Given the description of an element on the screen output the (x, y) to click on. 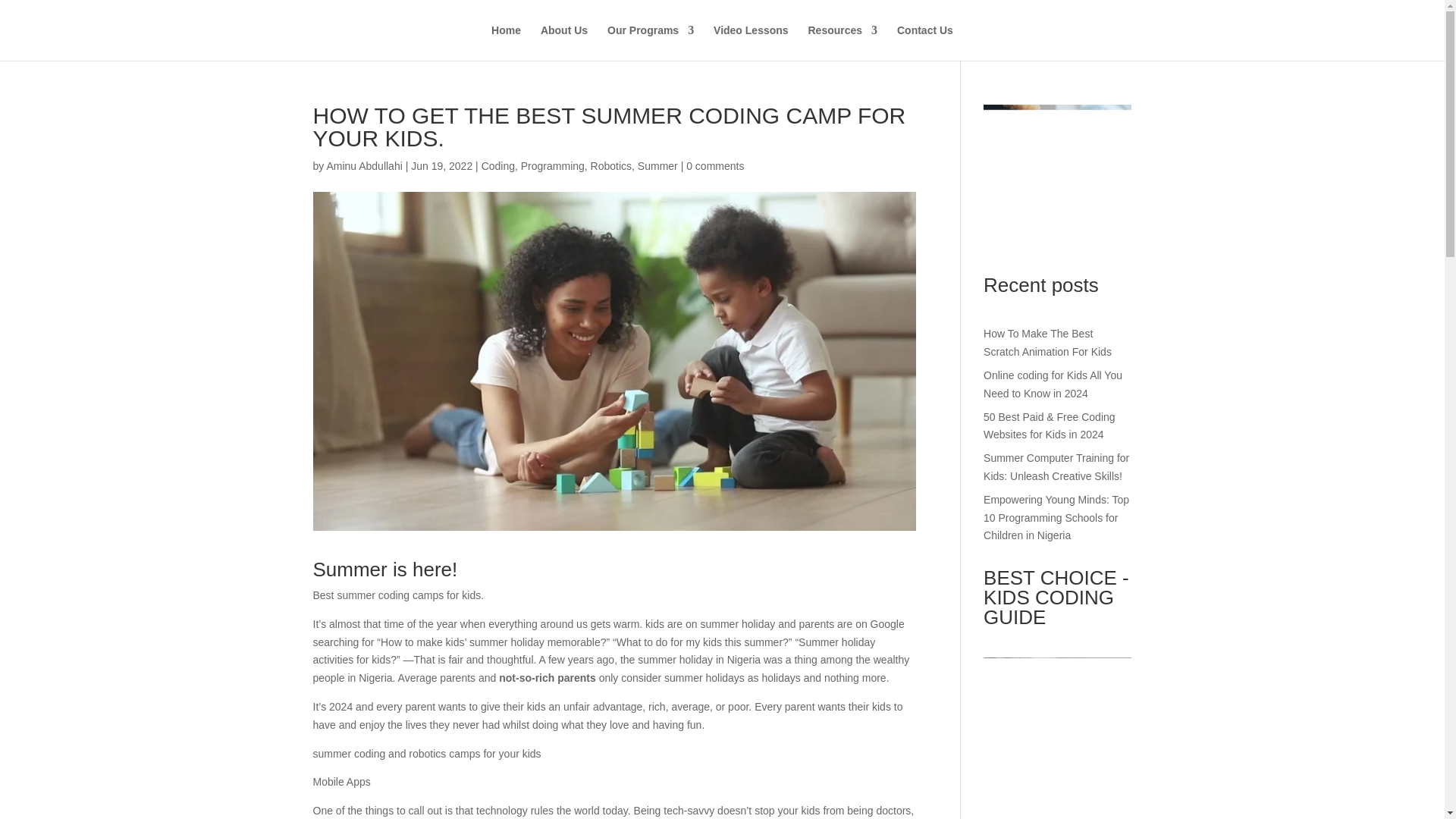
Aminu Abdullahi (363, 165)
Our Programs (650, 42)
Coding (498, 165)
Summer (657, 165)
Summer Computer Training for Kids: Unleash Creative Skills! (1056, 467)
Posts by Aminu Abdullahi (363, 165)
Robotics (611, 165)
About Us (564, 42)
Contact Us (924, 42)
How To Make The Best Scratch Animation For Kids (1048, 342)
Resources (842, 42)
0 comments (714, 165)
Programming (553, 165)
Online coding for Kids All You Need to Know in 2024 (1053, 384)
